Given the description of an element on the screen output the (x, y) to click on. 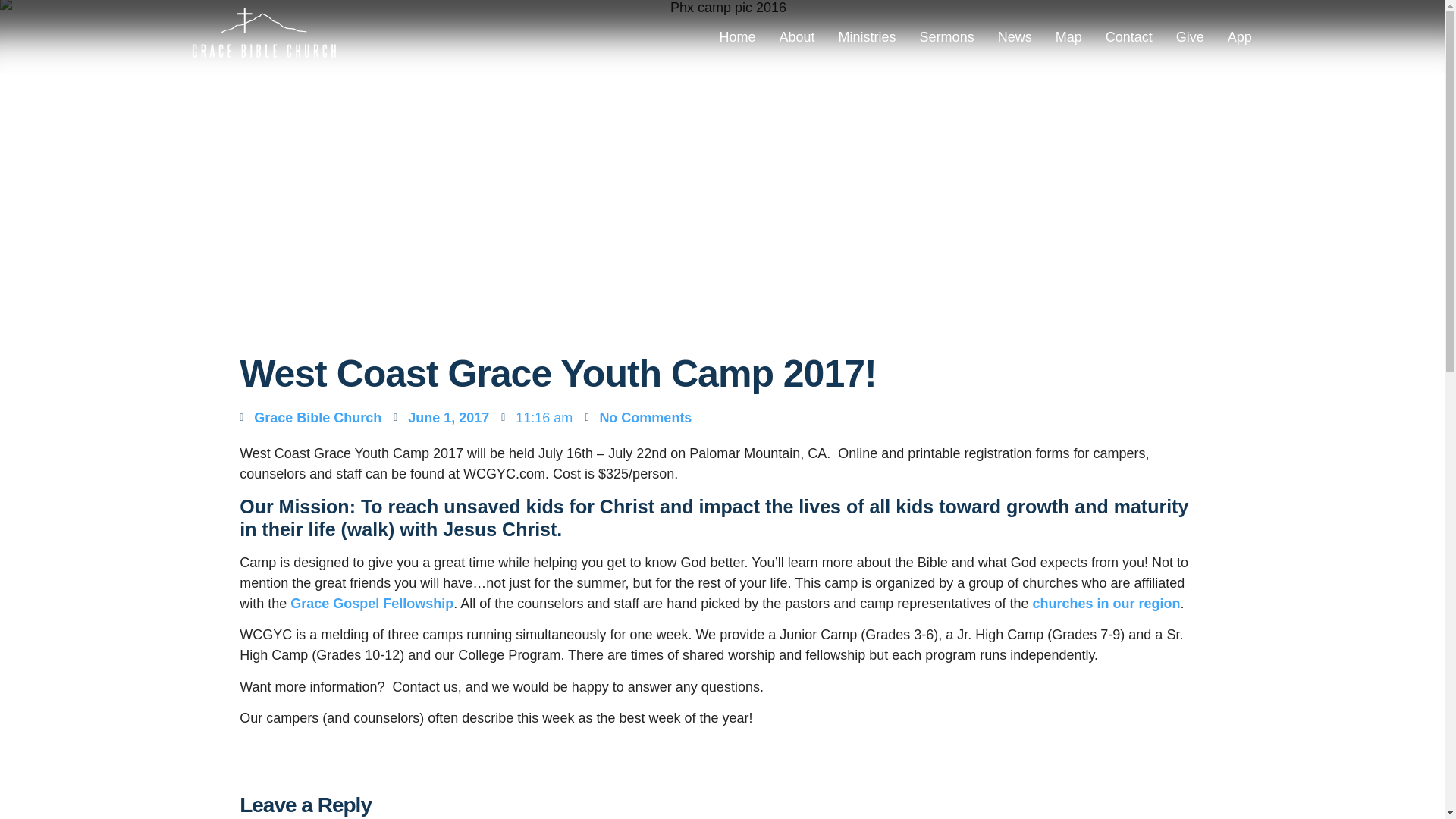
No Comments (638, 417)
About (797, 35)
West Coast Region Churches (1105, 603)
Contact (1128, 35)
churches in our region (1105, 603)
News (1014, 35)
Home (737, 35)
Ministries (866, 35)
Map (1068, 35)
App (1240, 35)
